Given the description of an element on the screen output the (x, y) to click on. 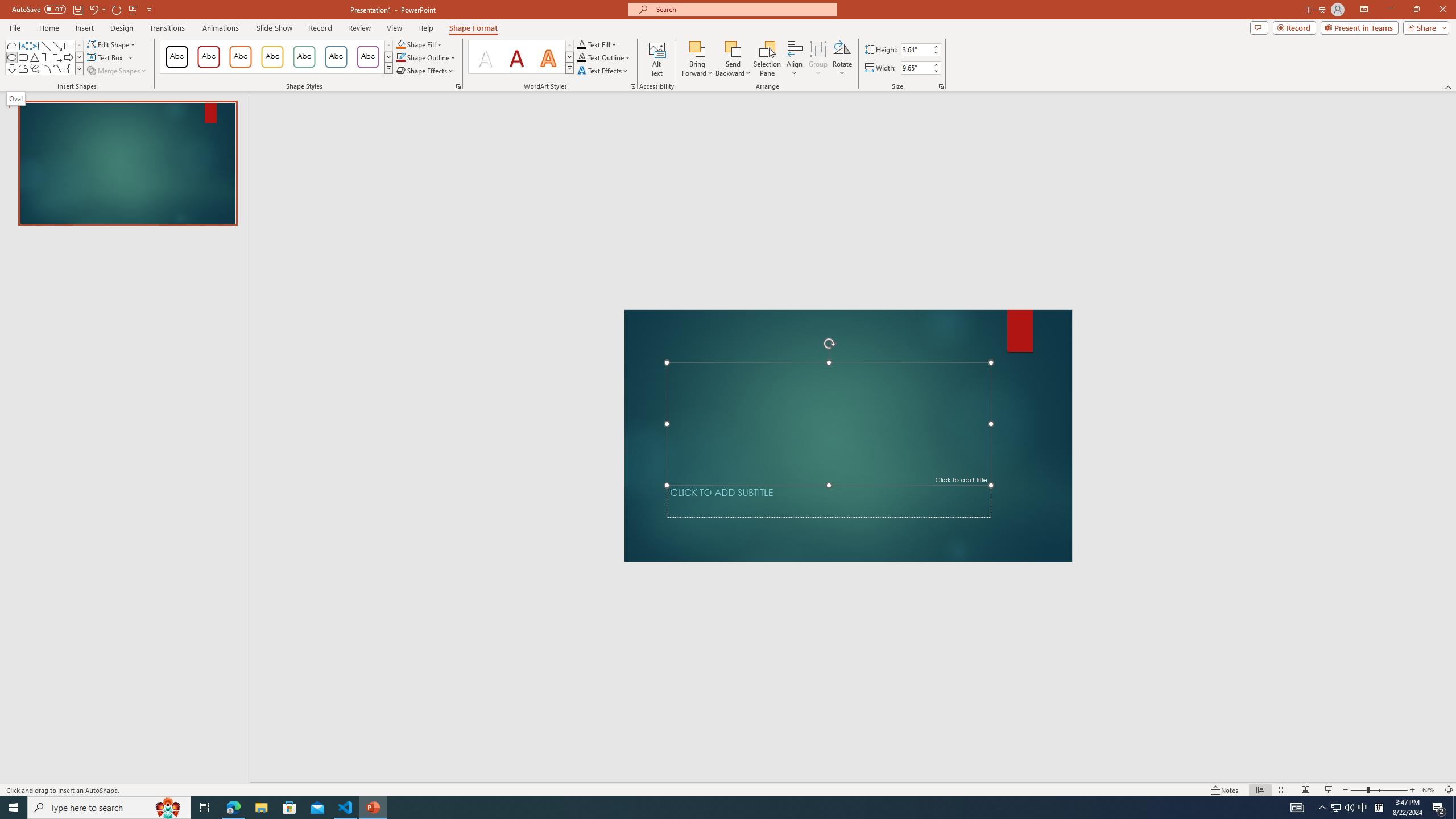
Bring Forward (697, 58)
Send Backward (733, 48)
Microsoft search (742, 9)
Vertical Text Box (34, 45)
Format Text Effects... (632, 85)
Text Box (23, 45)
Line Arrow (57, 45)
Group (817, 58)
Isosceles Triangle (34, 57)
AutomationID: ShapeStylesGallery (276, 56)
Freeform: Shape (23, 68)
